Given the description of an element on the screen output the (x, y) to click on. 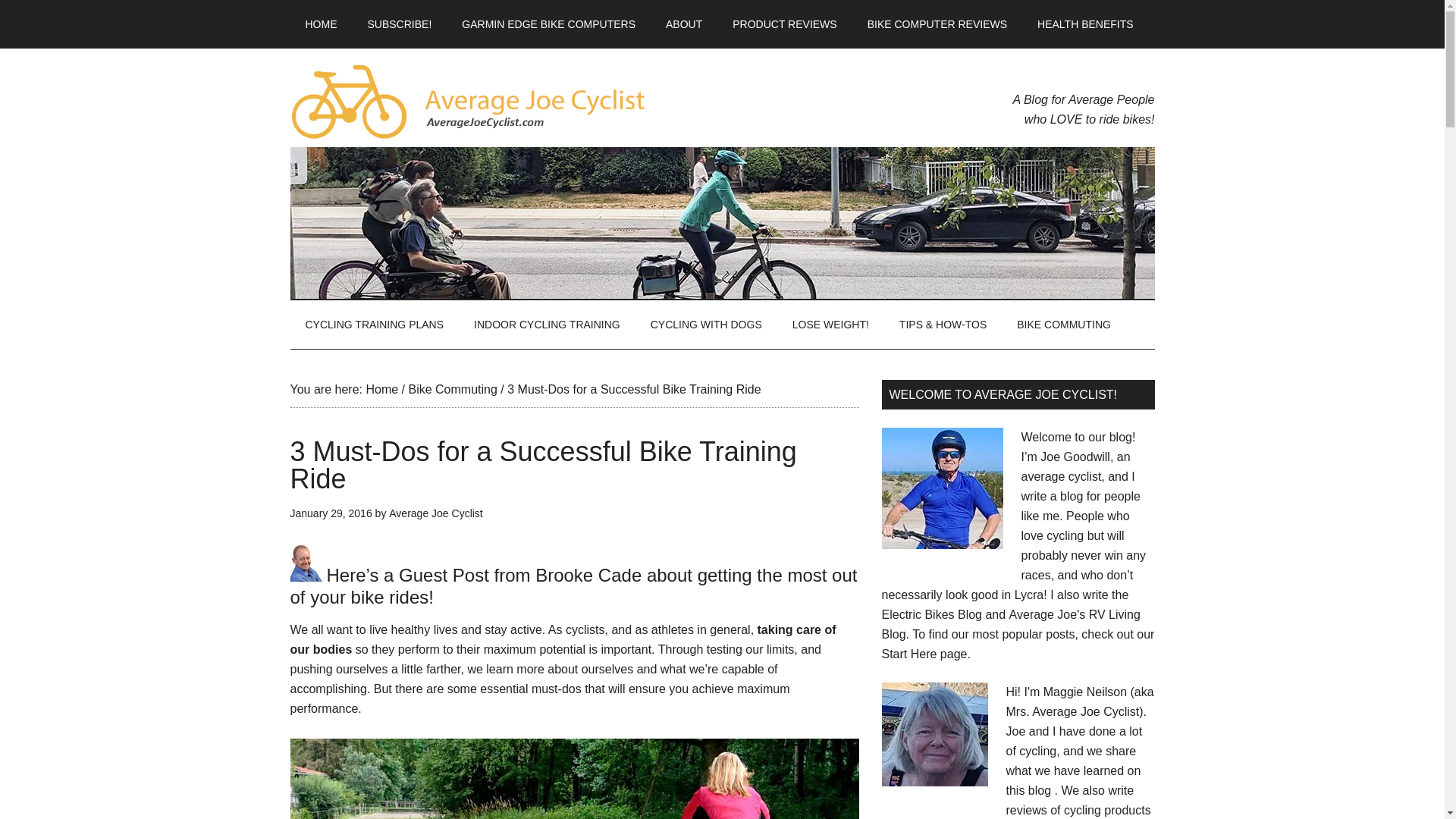
ABOUT (683, 24)
GARMIN EDGE BIKE COMPUTERS (548, 24)
HOME (320, 24)
PRODUCT REVIEWS (784, 24)
SUBSCRIBE! (399, 24)
